Given the description of an element on the screen output the (x, y) to click on. 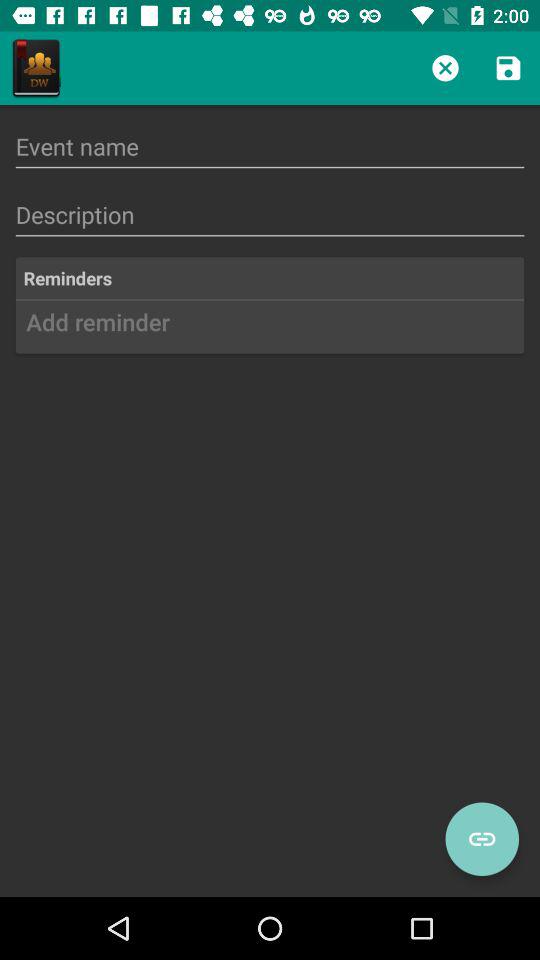
open add reminder at the center (269, 329)
